Given the description of an element on the screen output the (x, y) to click on. 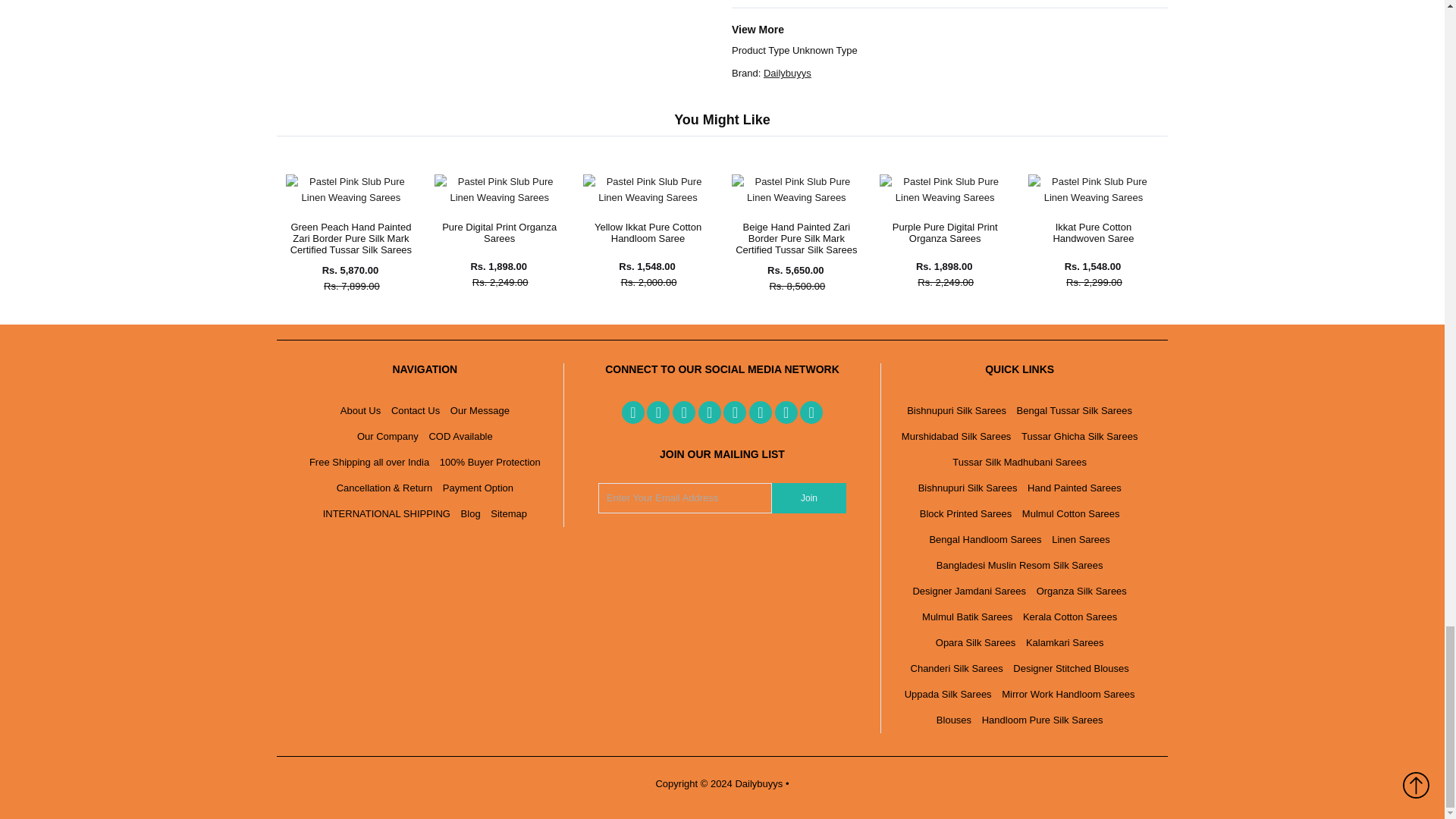
Ikkat Pure Cotton Handwoven Saree (1092, 197)
Pure Digital Print Organza Sarees (498, 197)
Dailybuyys (786, 72)
Yellow Ikkat Pure Cotton Handloom Saree (648, 197)
Join (808, 498)
Purple Pure Digital Print Organza Sarees (944, 197)
